Given the description of an element on the screen output the (x, y) to click on. 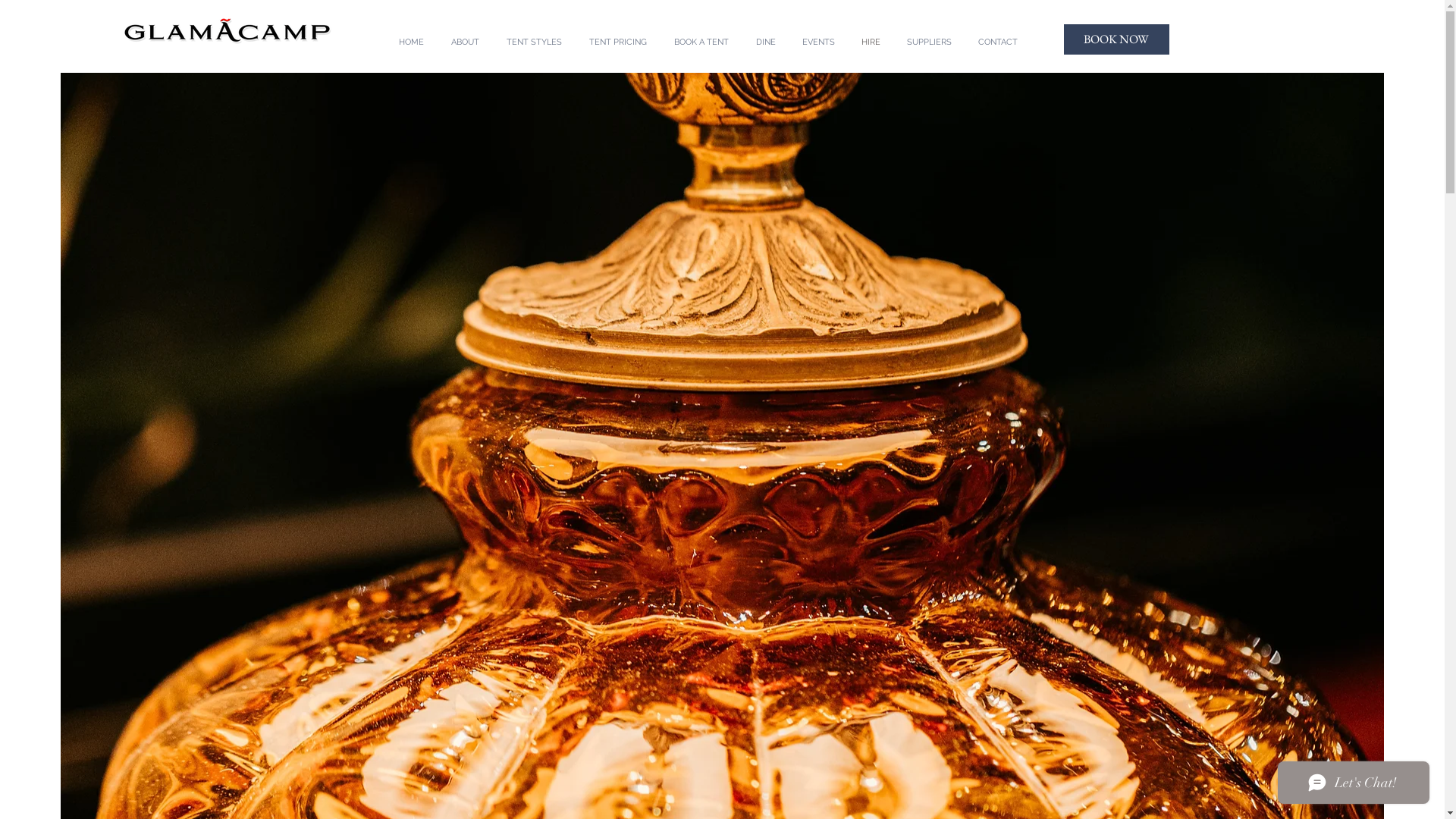
HIRE Element type: text (870, 42)
TENT PRICING Element type: text (616, 42)
Glamacamp Luxury Event Tents Element type: hover (226, 29)
ABOUT Element type: text (464, 42)
TENT STYLES Element type: text (533, 42)
SUPPLIERS Element type: text (928, 42)
BOOK A TENT Element type: text (700, 42)
BOOK NOW Element type: text (1115, 39)
DINE Element type: text (764, 42)
HOME Element type: text (411, 42)
EVENTS Element type: text (817, 42)
CONTACT Element type: text (997, 42)
